Given the description of an element on the screen output the (x, y) to click on. 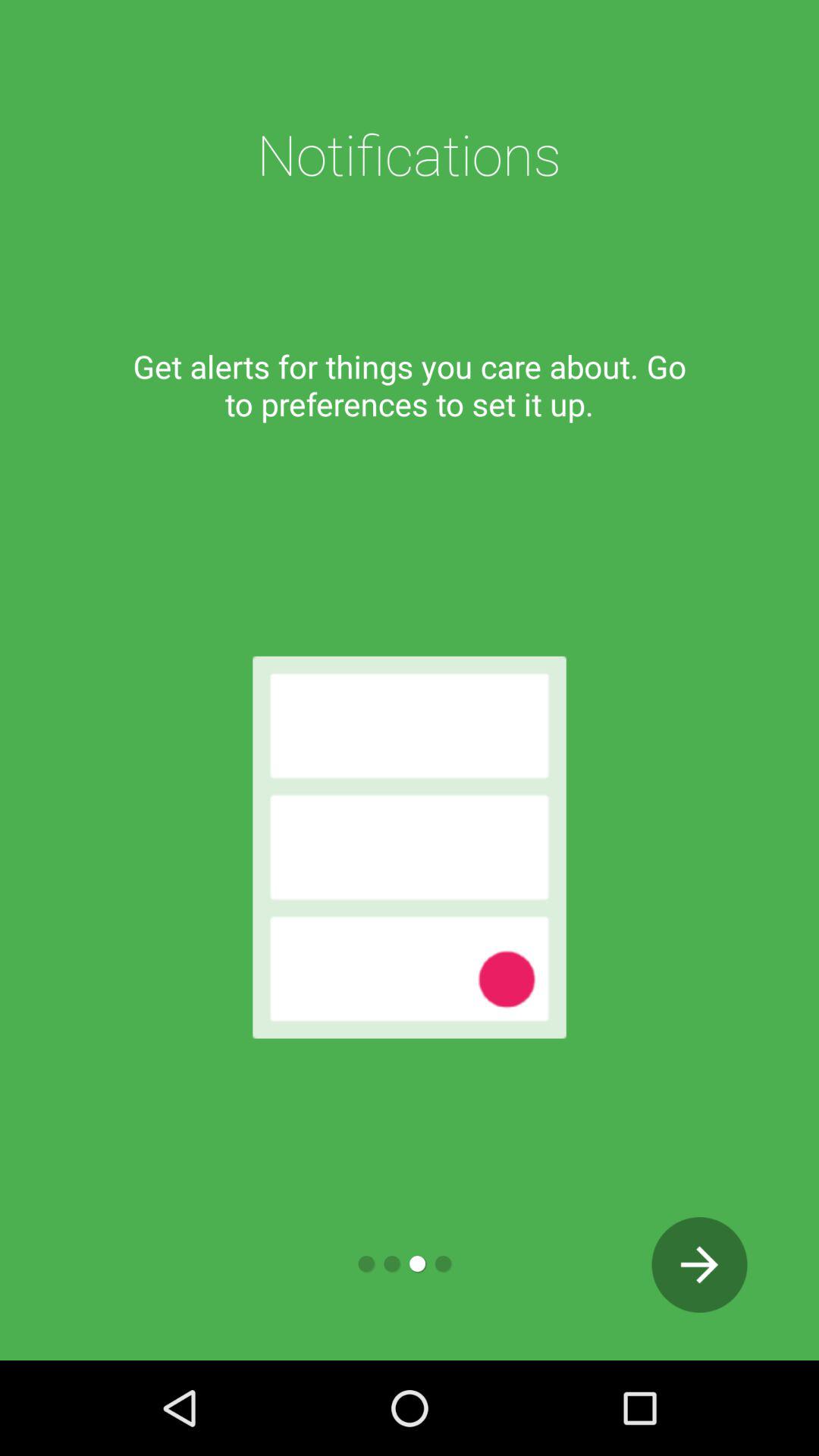
next page (699, 1264)
